Given the description of an element on the screen output the (x, y) to click on. 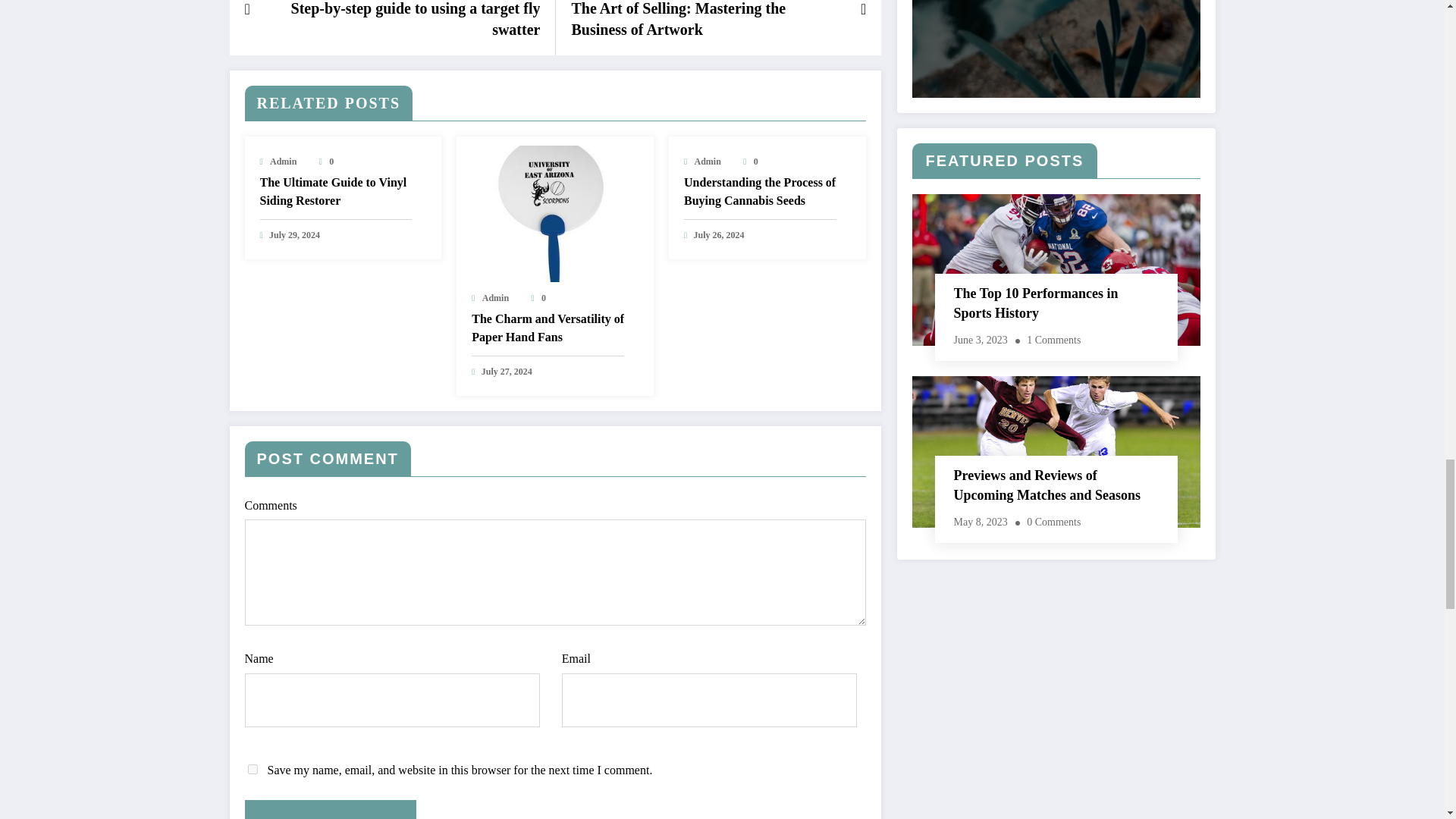
yes (252, 768)
Post Comment (330, 809)
